Given the description of an element on the screen output the (x, y) to click on. 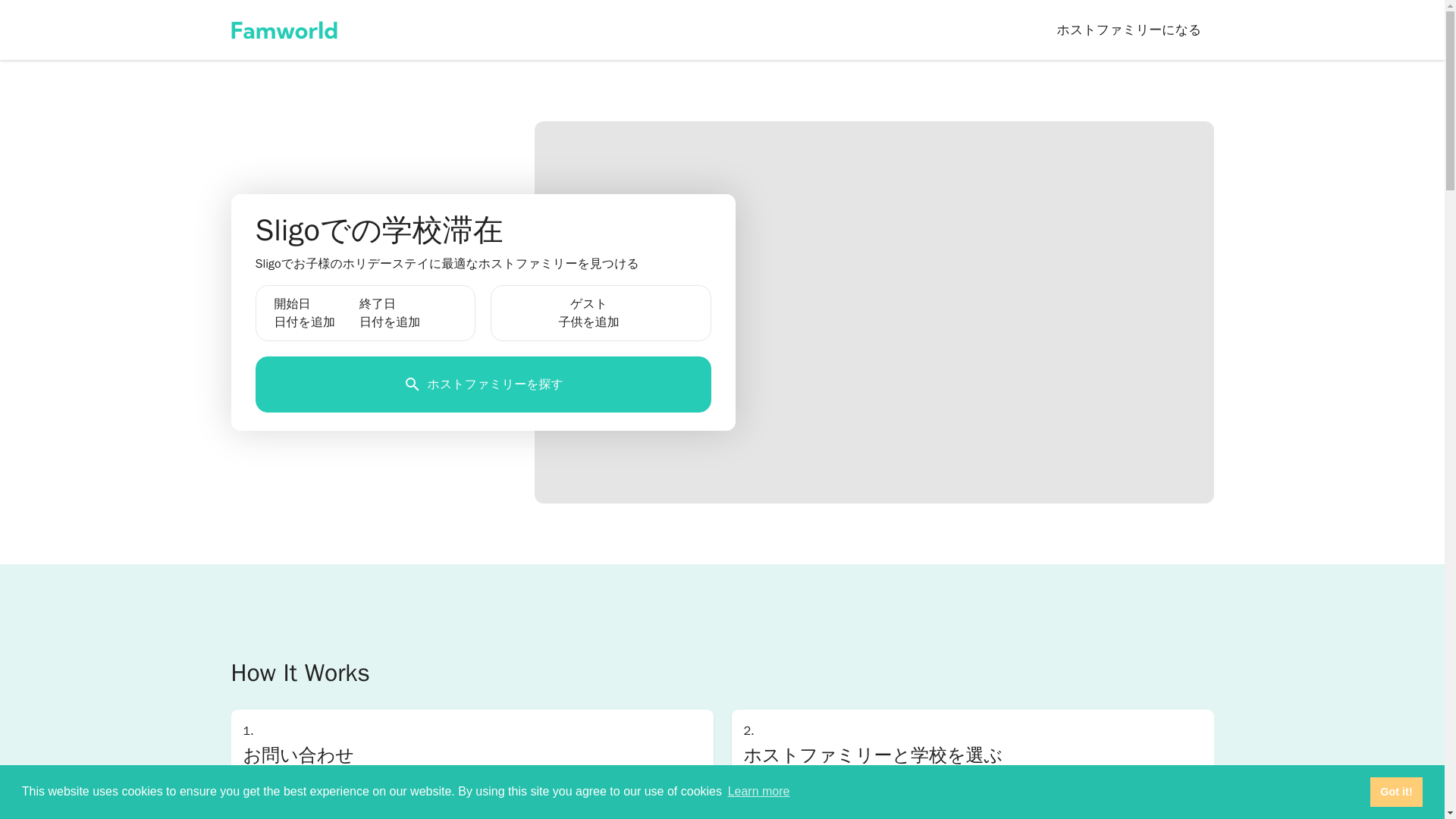
Got it! (1396, 791)
Learn more (758, 791)
